Given the description of an element on the screen output the (x, y) to click on. 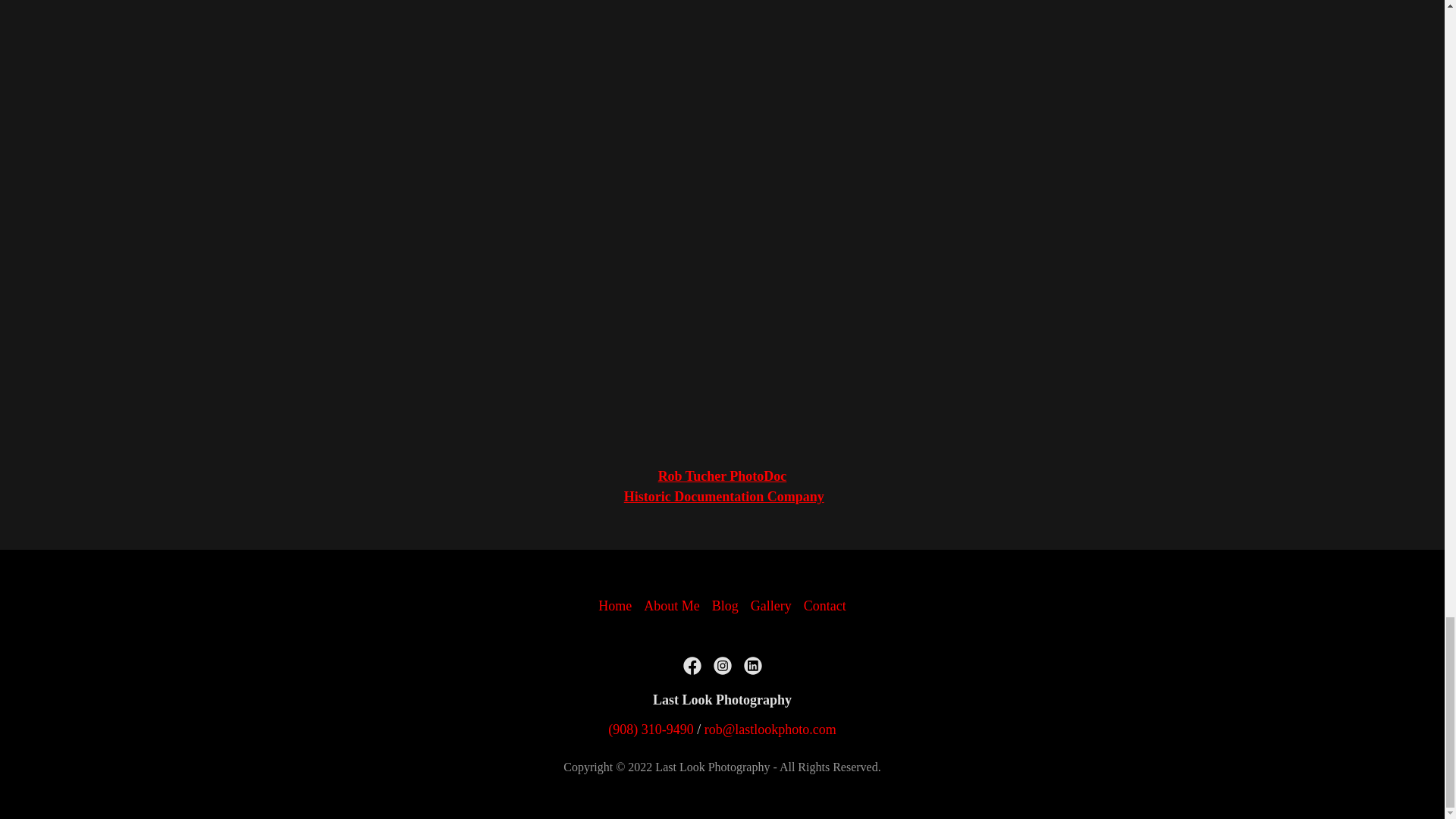
Blog (725, 605)
Rob Tucher PhotoDoc (722, 476)
Historic Documentation Company (724, 496)
Home (614, 605)
Contact (824, 605)
Gallery (770, 605)
About Me (671, 605)
